Given the description of an element on the screen output the (x, y) to click on. 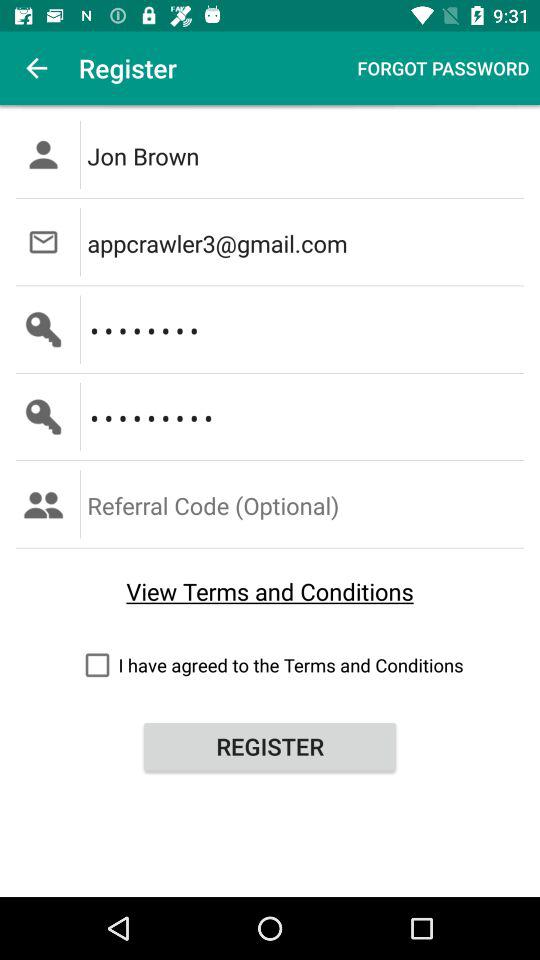
referral code (306, 504)
